Given the description of an element on the screen output the (x, y) to click on. 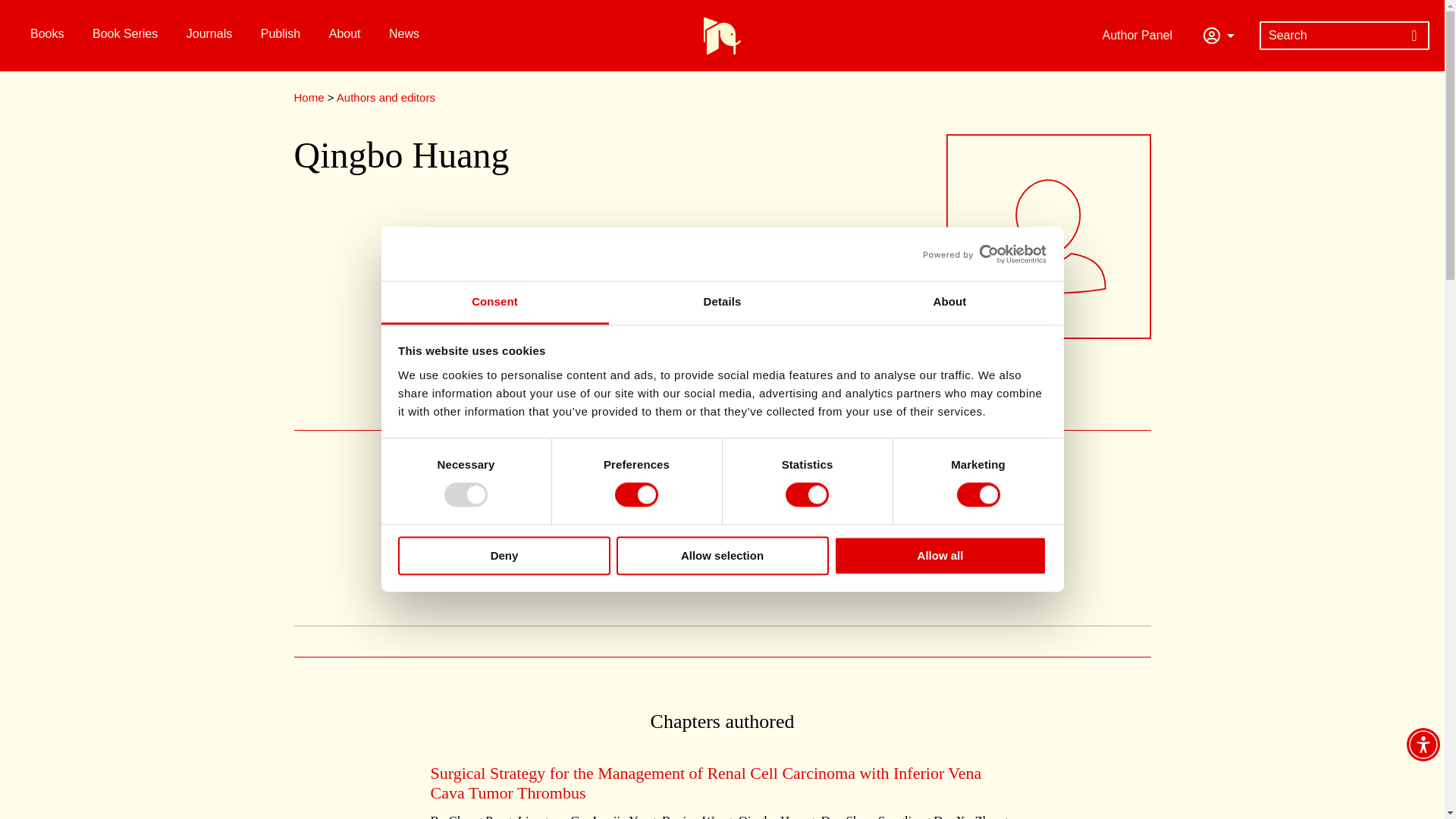
Consent (494, 302)
Accessibility Menu (1422, 744)
Details (721, 302)
About (948, 302)
